Given the description of an element on the screen output the (x, y) to click on. 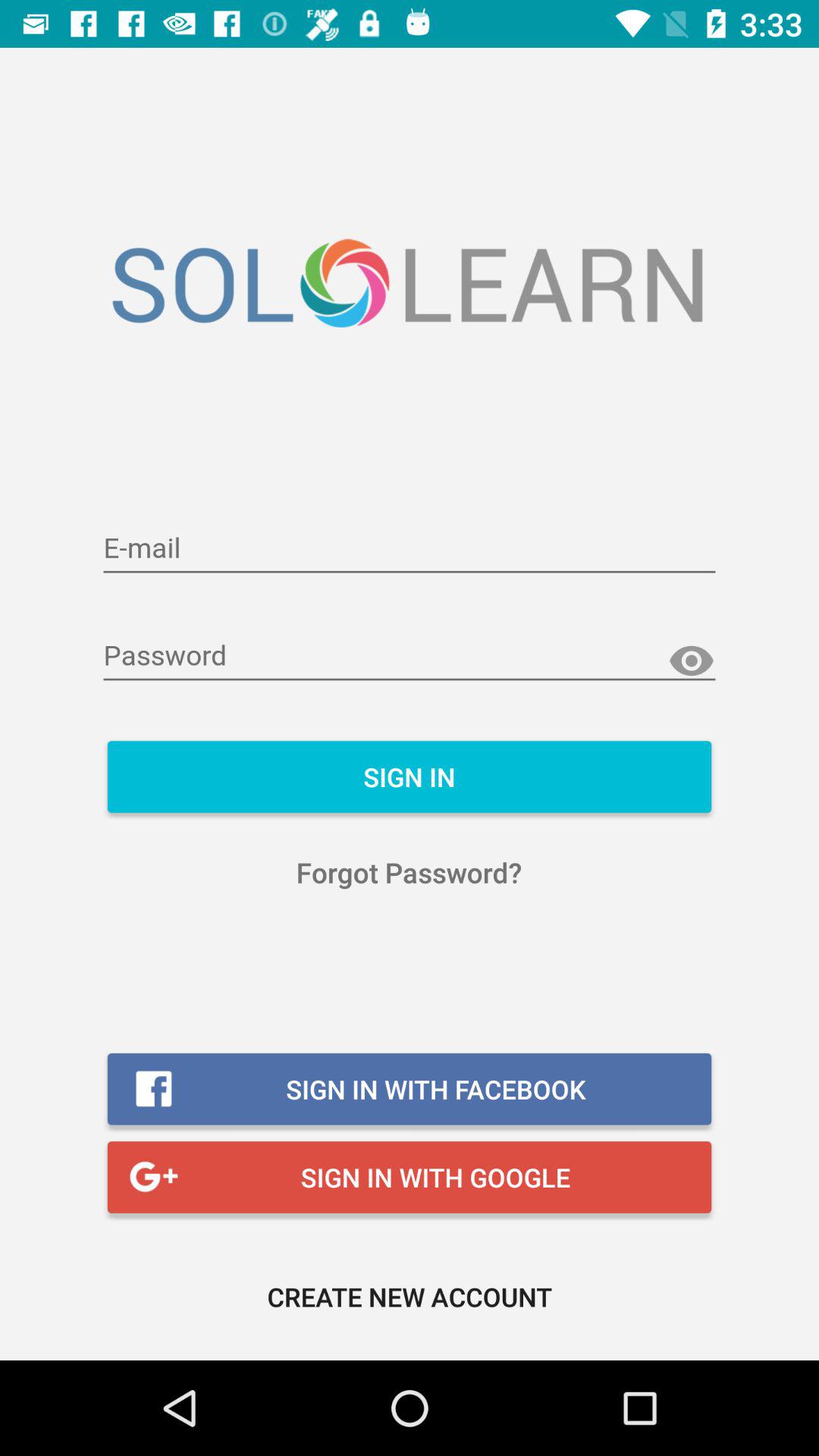
toggle password visibility (691, 661)
